Given the description of an element on the screen output the (x, y) to click on. 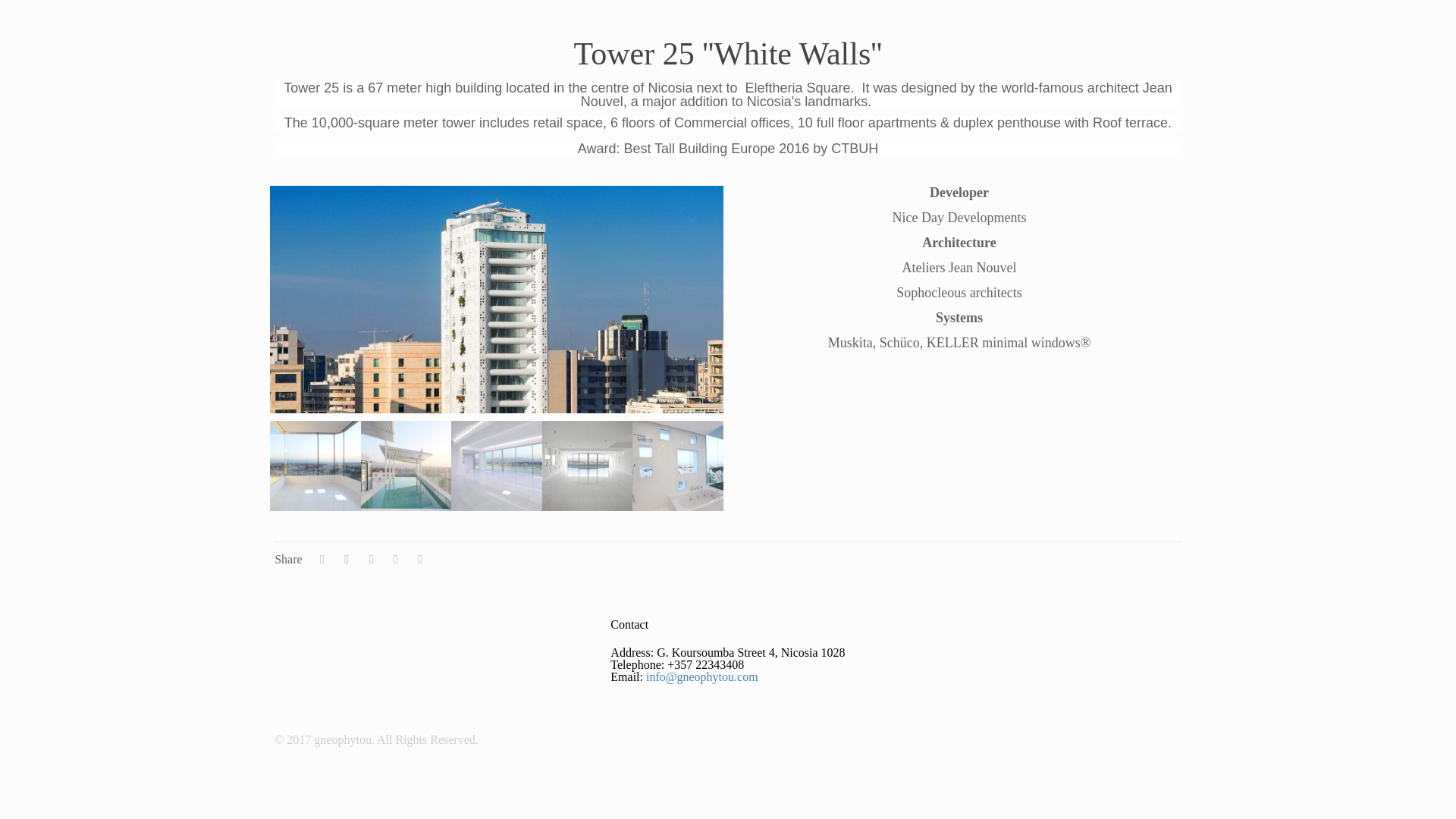
Facebook (1158, 739)
